Given the description of an element on the screen output the (x, y) to click on. 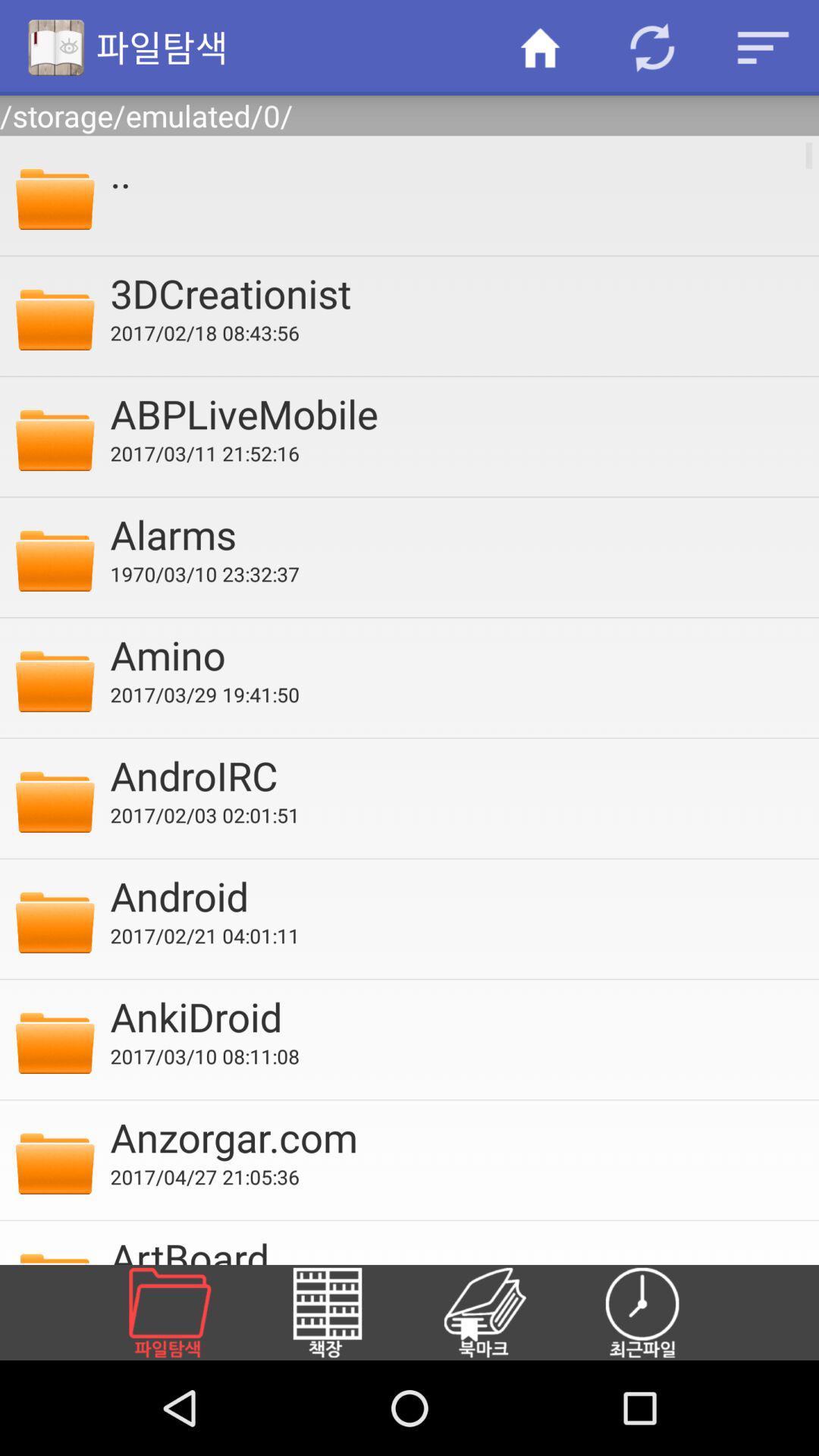
launch the item above 2017 03 10 icon (454, 1016)
